Given the description of an element on the screen output the (x, y) to click on. 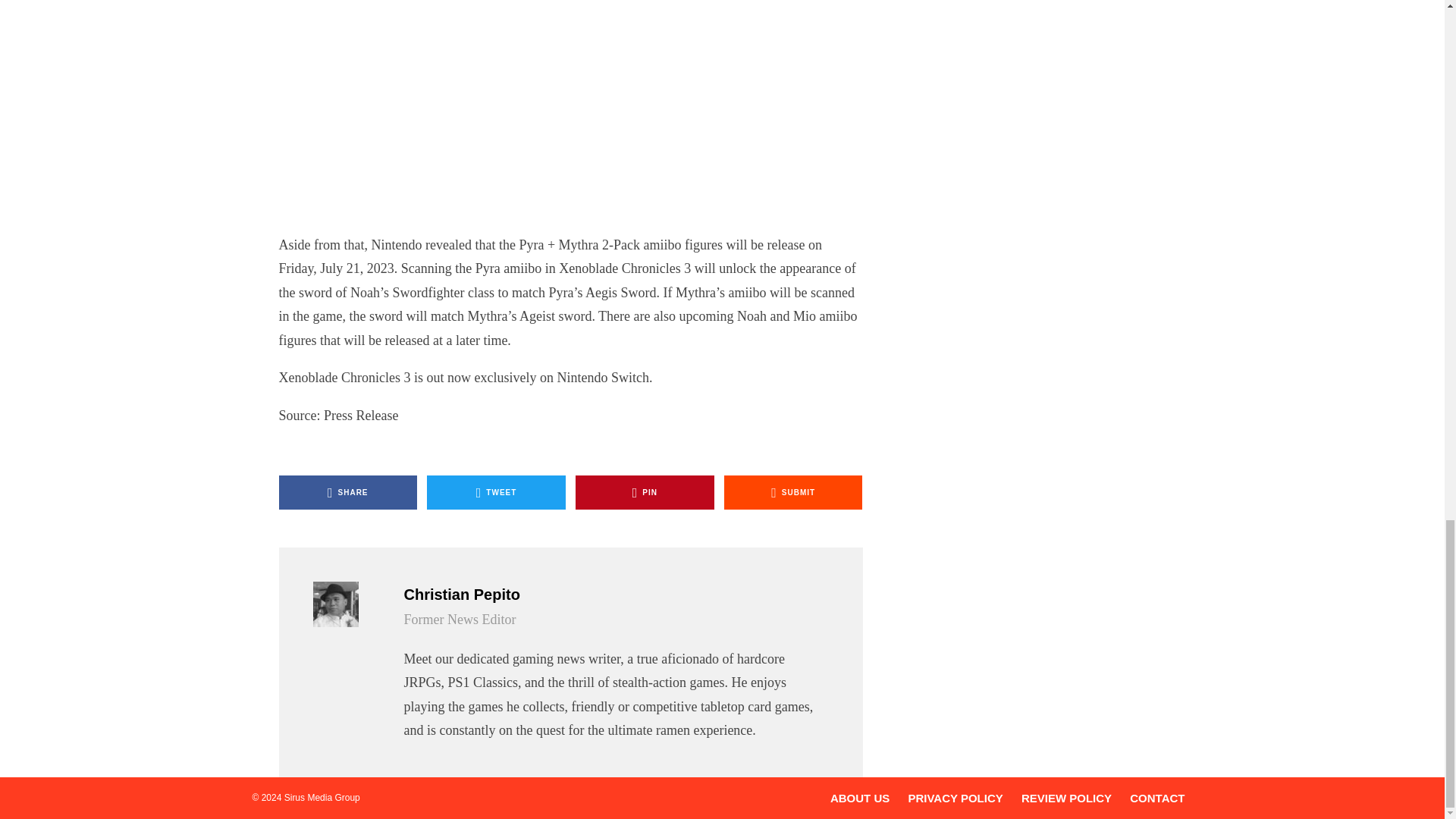
PIN (644, 492)
PRIVACY POLICY (955, 798)
Christian Pepito (613, 594)
CONTACT (1157, 798)
SUBMIT (793, 492)
REVIEW POLICY (1067, 798)
SHARE (348, 492)
TWEET (496, 492)
ABOUT US (859, 798)
